Given the description of an element on the screen output the (x, y) to click on. 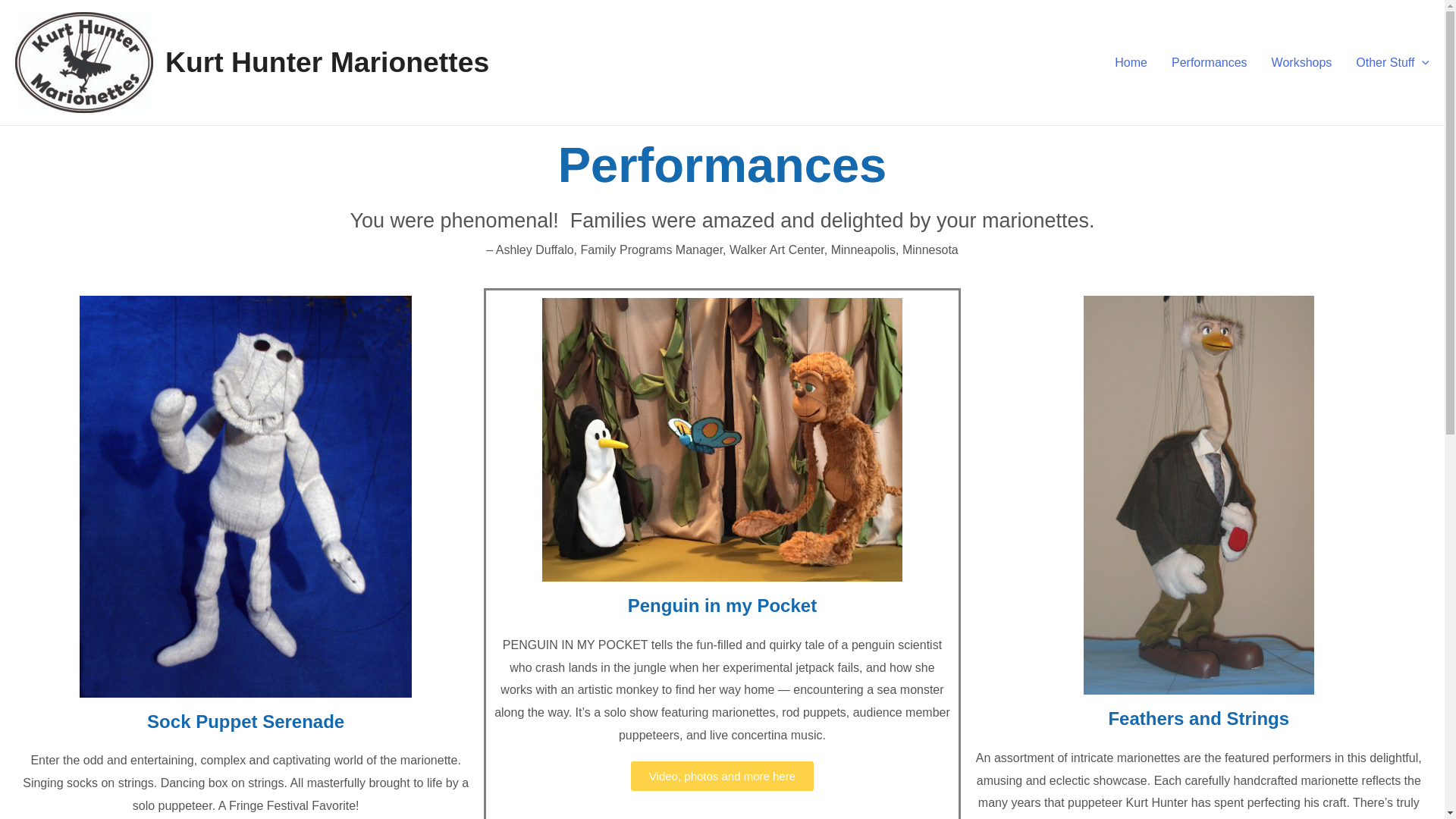
Other Stuff (1386, 61)
Workshops (1301, 61)
Home (1130, 61)
Kurt Hunter Marionettes (327, 61)
Performances (1208, 61)
